Given the description of an element on the screen output the (x, y) to click on. 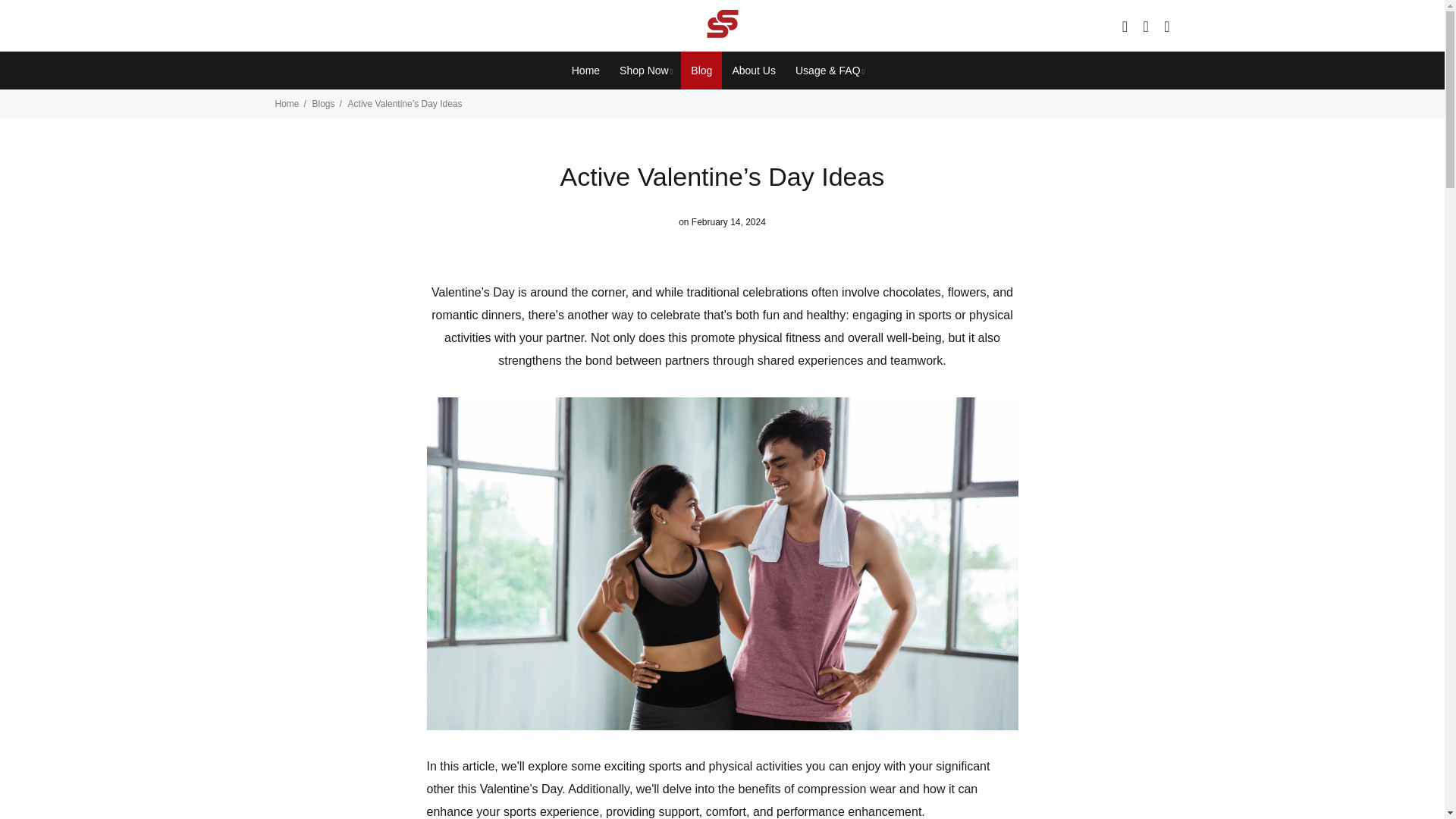
Home (586, 70)
